Given the description of an element on the screen output the (x, y) to click on. 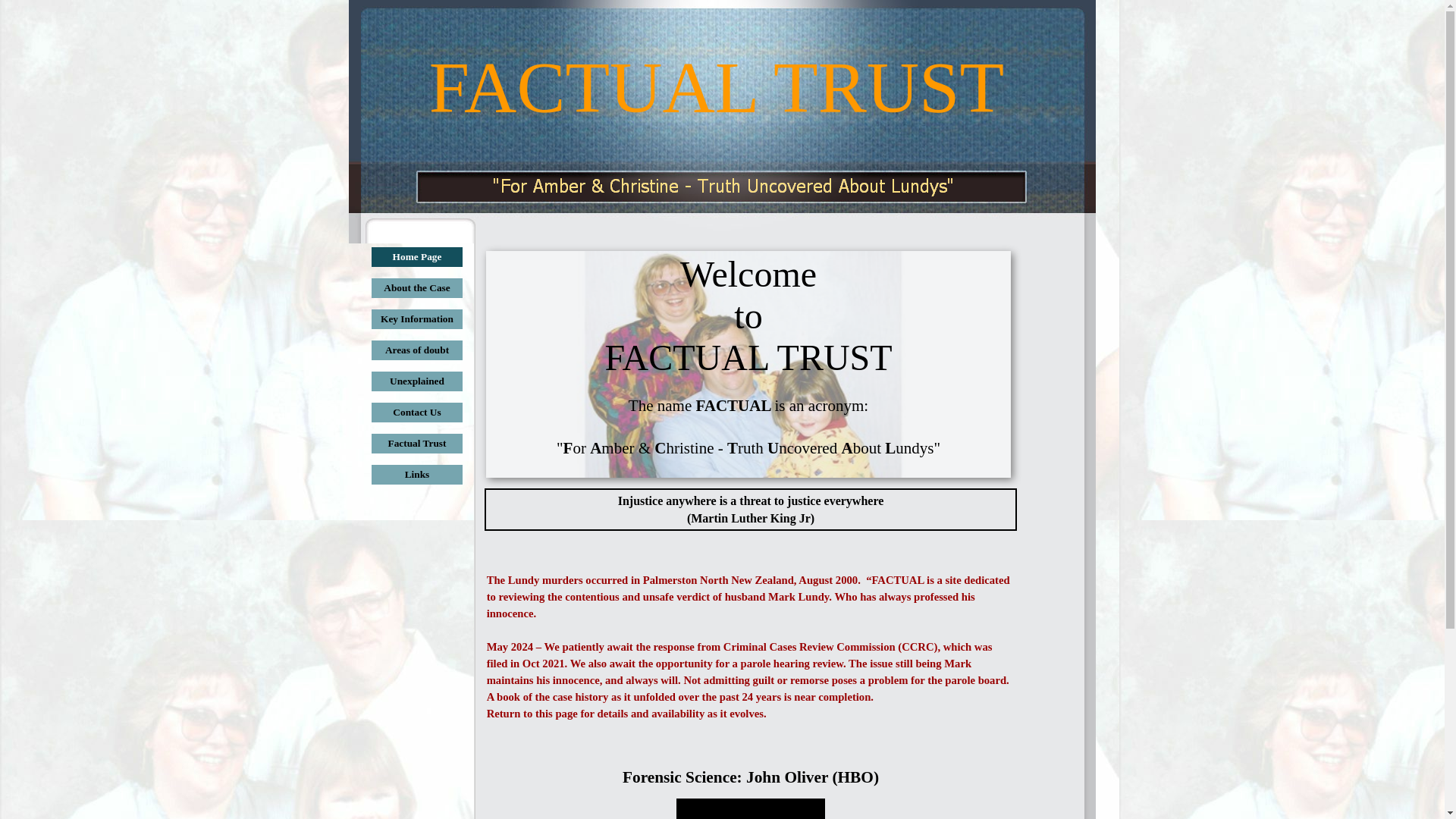
About the Case (417, 288)
Key Information (417, 319)
Home Page (417, 256)
Areas of doubt (417, 350)
Links (417, 474)
Unexplained (417, 381)
Factual Trust (417, 443)
Contact Us (417, 412)
